Given the description of an element on the screen output the (x, y) to click on. 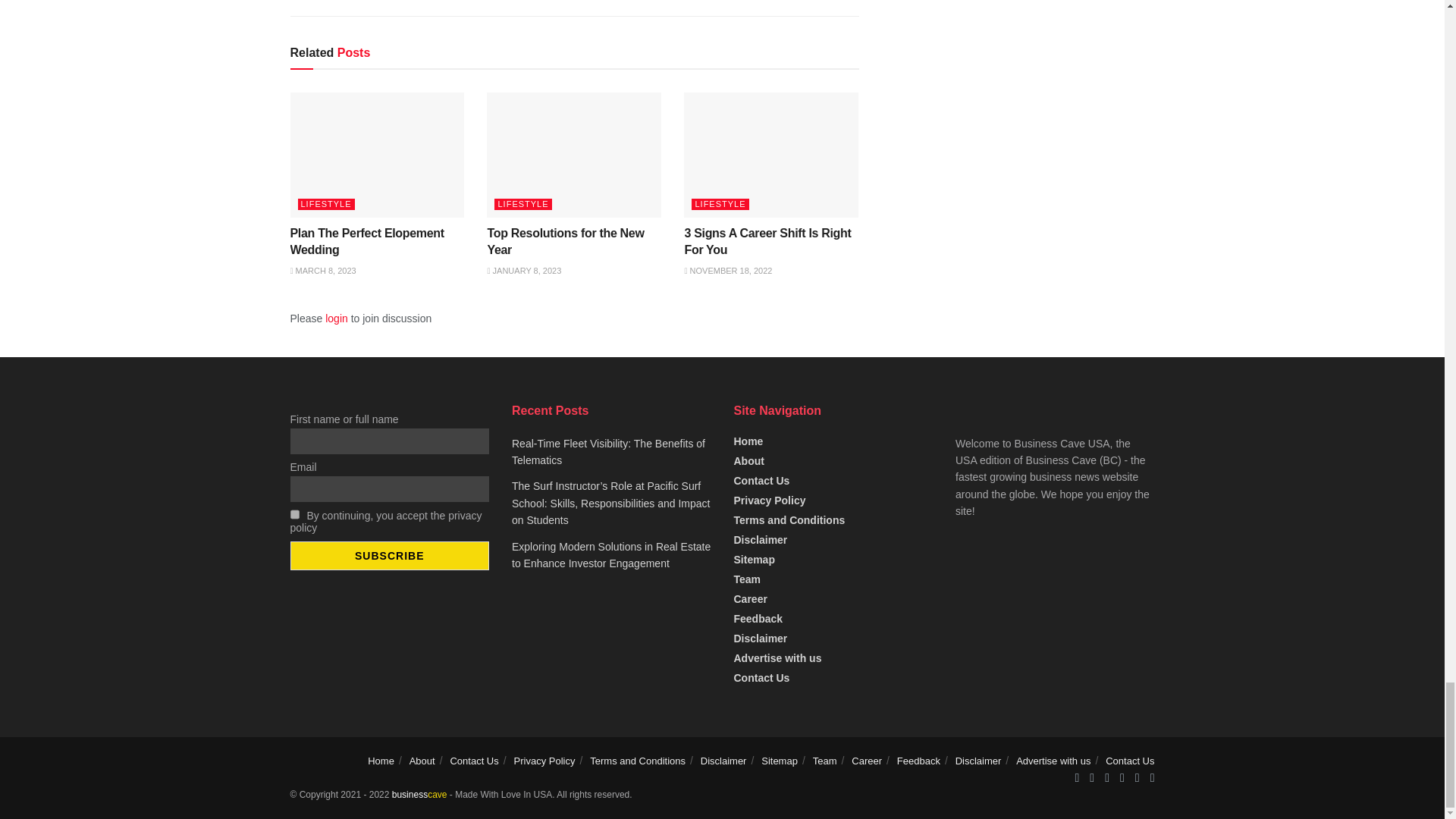
Subscribe (389, 555)
on (293, 514)
